Given the description of an element on the screen output the (x, y) to click on. 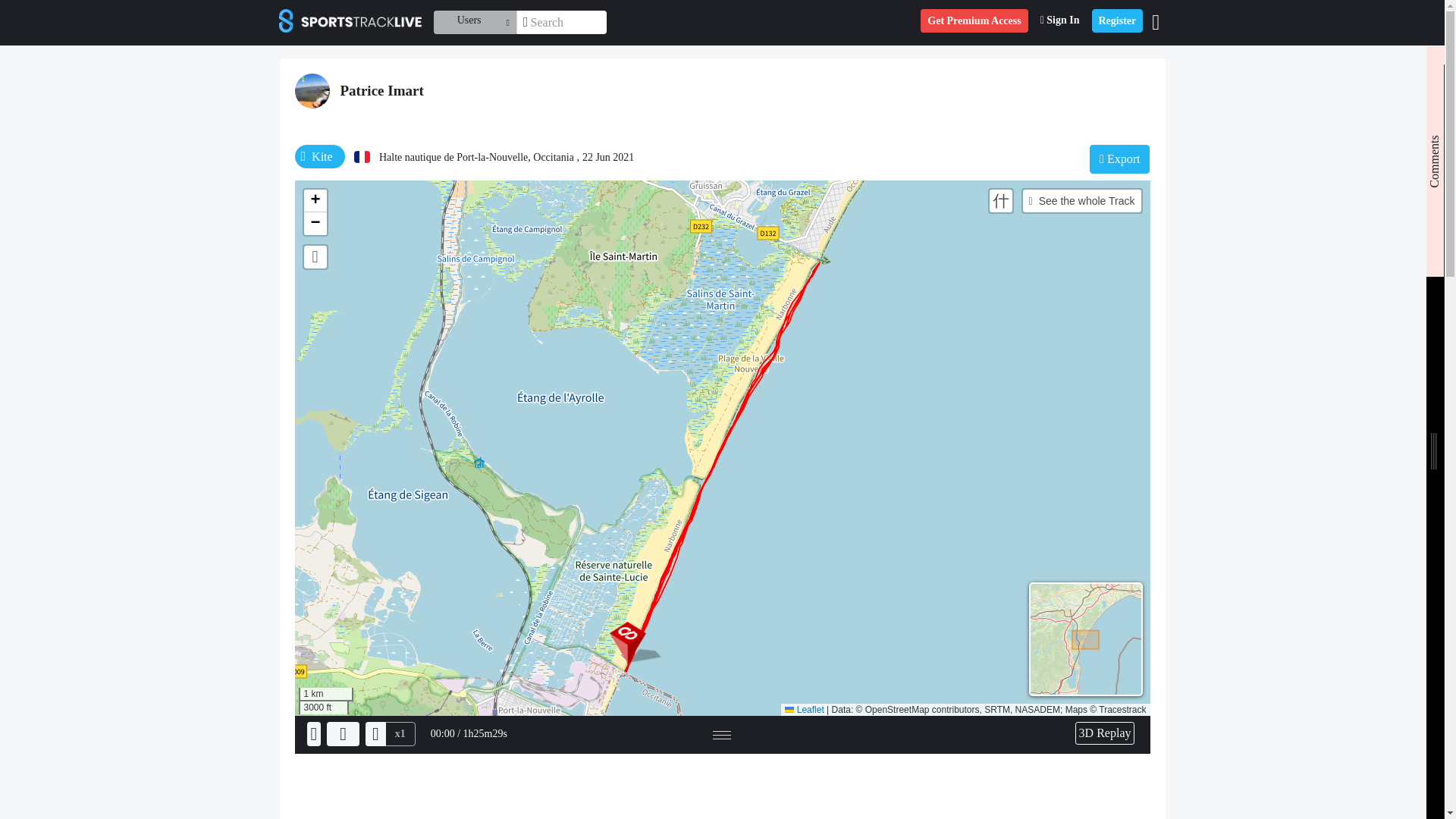
See the whole Track (1082, 200)
Users (474, 22)
Zoom in (314, 200)
Export (1119, 158)
Halte nautique de Port-la-Nouvelle, Occitania , (477, 155)
Leaflet (804, 709)
A JavaScript library for interactive maps (804, 709)
Register (1117, 20)
x1 (399, 733)
Patrice Imart (381, 90)
3D Replay (1105, 732)
Sign In (1059, 20)
Zoom out (314, 223)
